Given the description of an element on the screen output the (x, y) to click on. 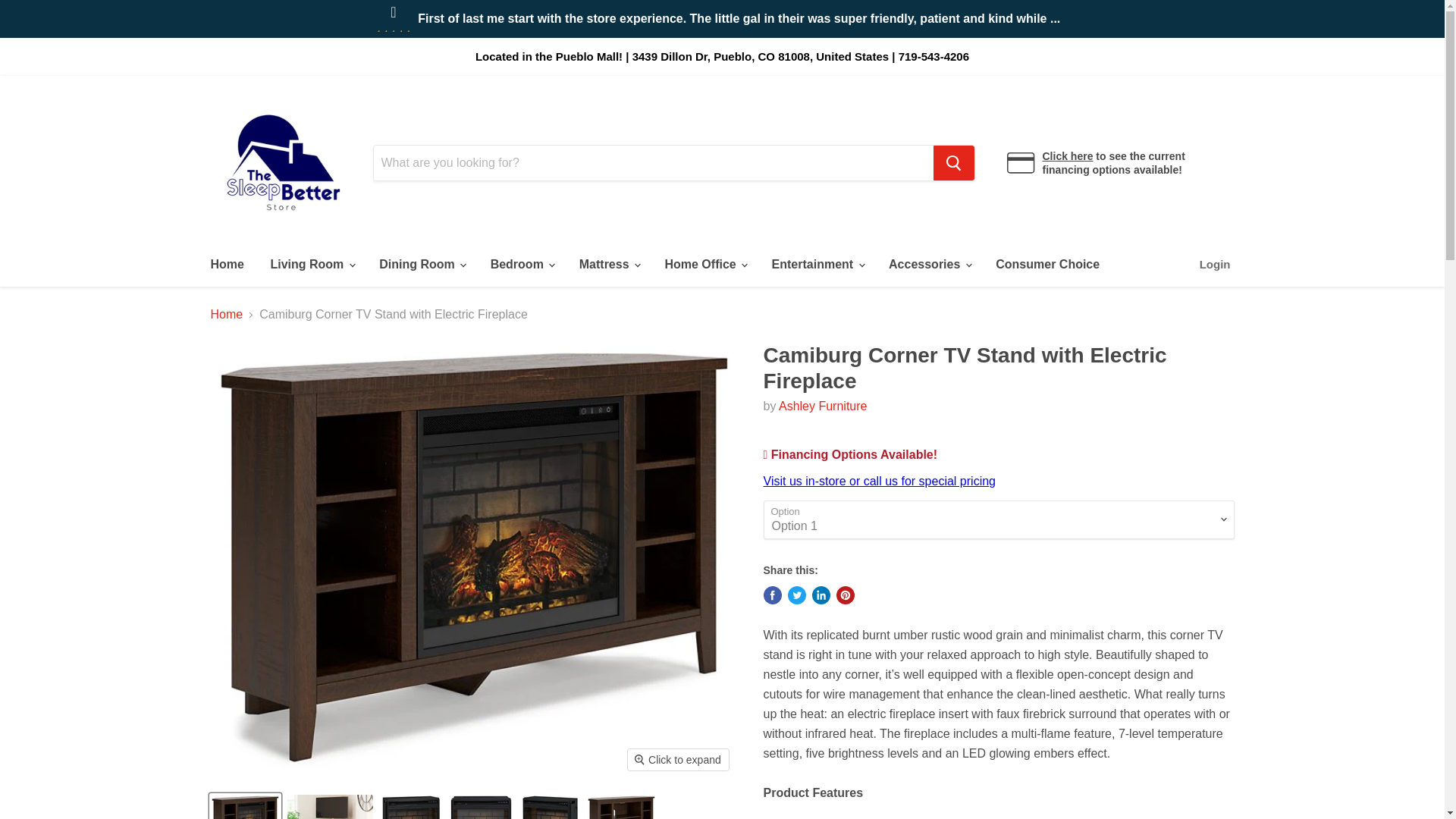
Bedroom (521, 264)
Ashley Furniture (822, 405)
Dining Room (422, 264)
Living Room (311, 264)
Home (226, 264)
Financing (1067, 155)
Click here (1067, 155)
